Given the description of an element on the screen output the (x, y) to click on. 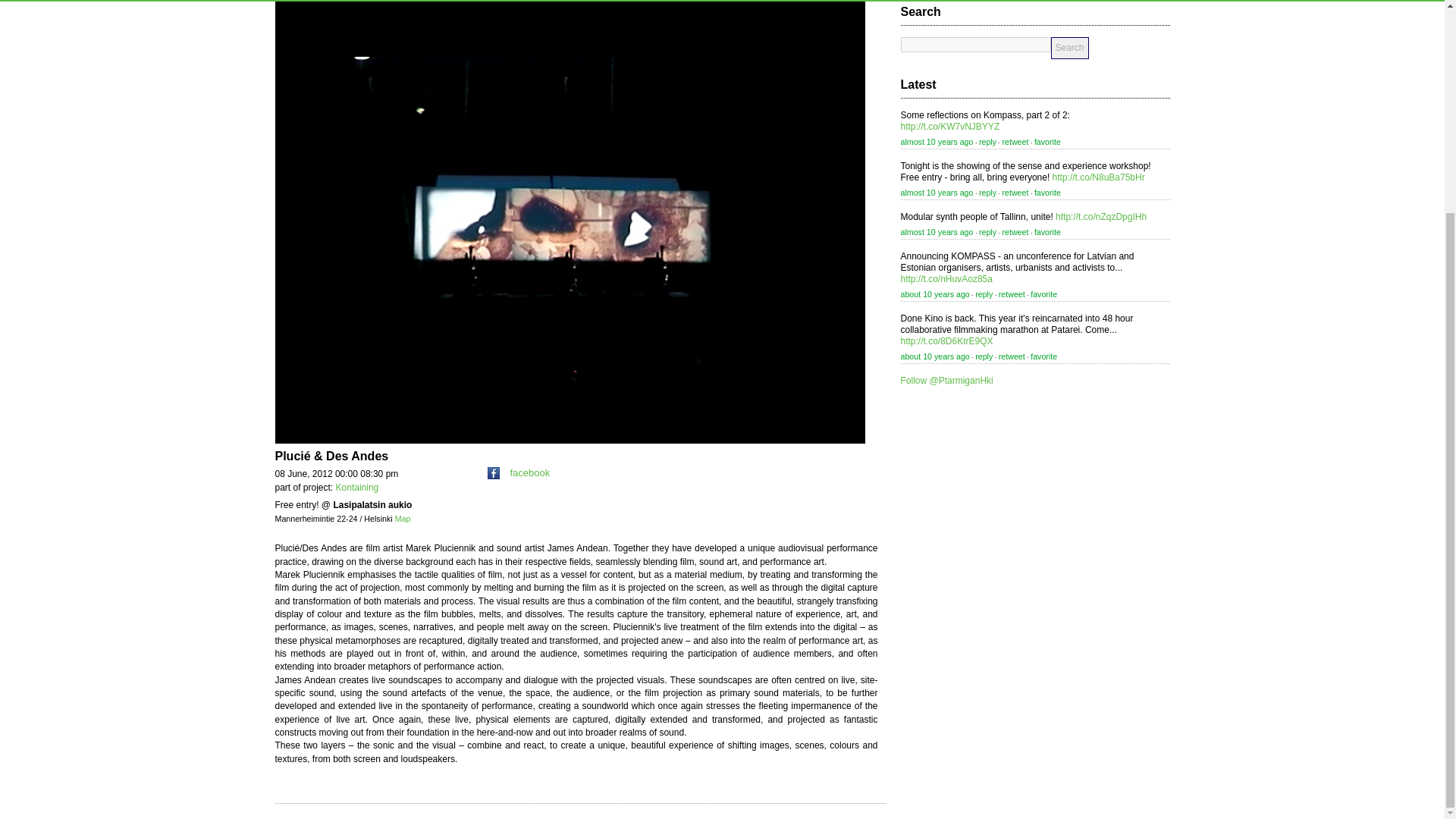
favorite (1047, 192)
retweet (1014, 141)
about 10 years ago (935, 293)
Kontaining (357, 487)
facebook (518, 472)
favorite (1047, 141)
favorite (1047, 231)
almost 10 years ago (937, 192)
Search (1070, 47)
Search (1070, 47)
